Given the description of an element on the screen output the (x, y) to click on. 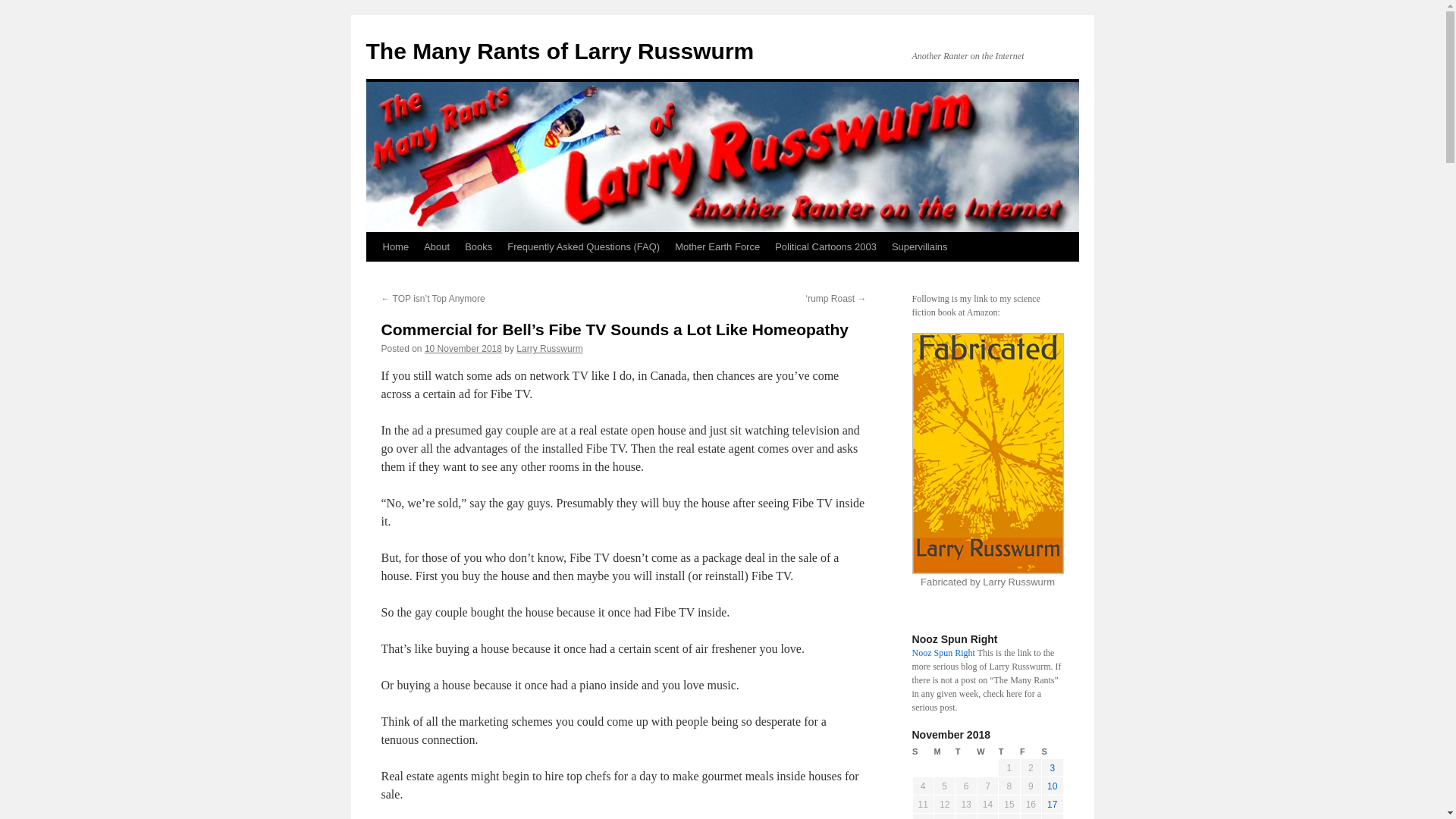
8:49 pm (463, 348)
Saturday (1052, 751)
Sunday (922, 751)
The Many Rants of Larry Russwurm (559, 50)
Supervillains (919, 246)
View all posts by Larry Russwurm (549, 348)
Friday (1030, 751)
About (436, 246)
Monday (944, 751)
Political Cartoons 2003 (825, 246)
Tuesday (965, 751)
Home (395, 246)
Books (478, 246)
Larry Russwurm (549, 348)
Mother Earth Force (716, 246)
